Given the description of an element on the screen output the (x, y) to click on. 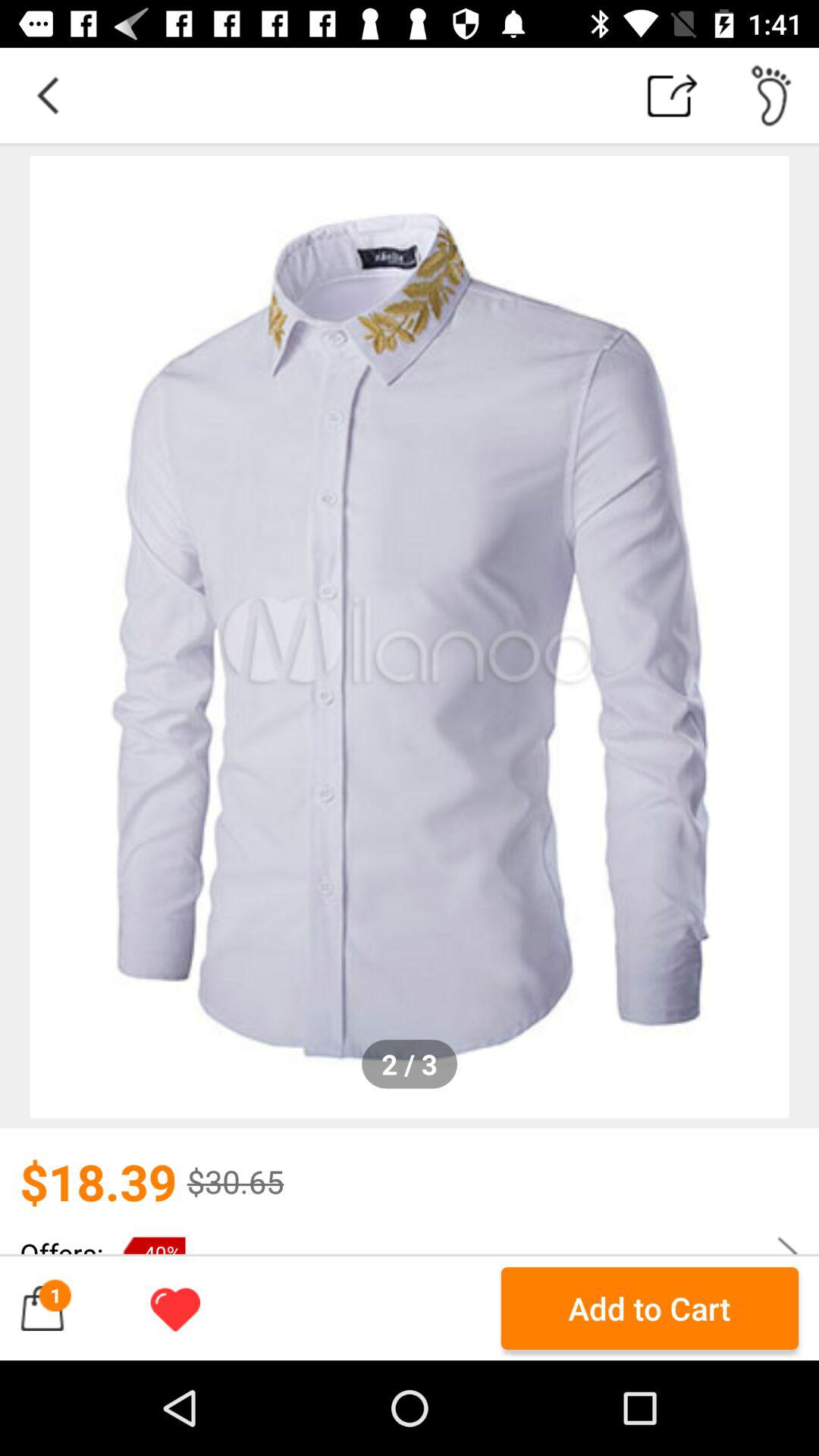
turn off the icon next to the add to cart icon (175, 1308)
